Given the description of an element on the screen output the (x, y) to click on. 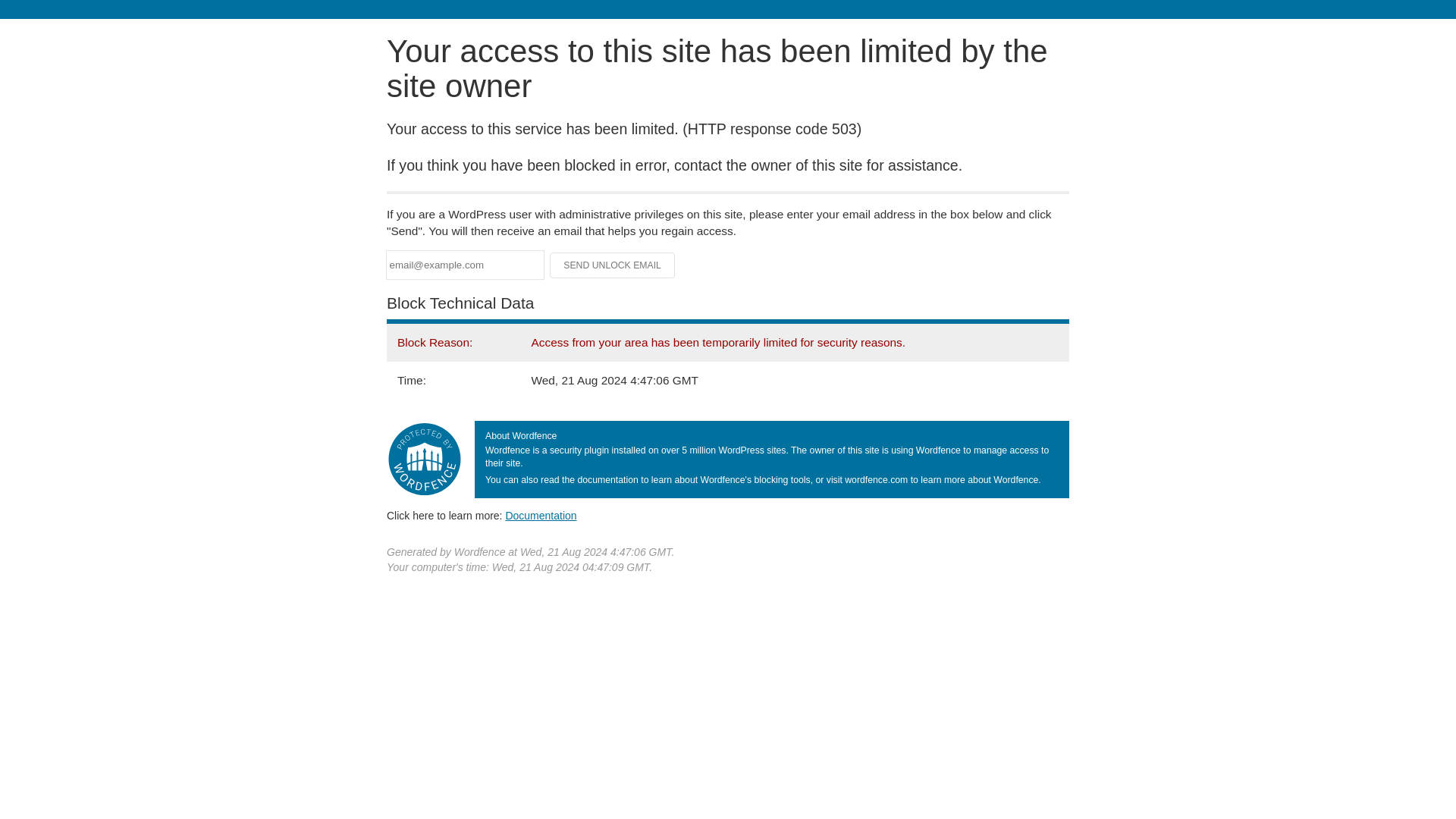
Send Unlock Email (612, 265)
Send Unlock Email (612, 265)
Documentation (540, 515)
